Given the description of an element on the screen output the (x, y) to click on. 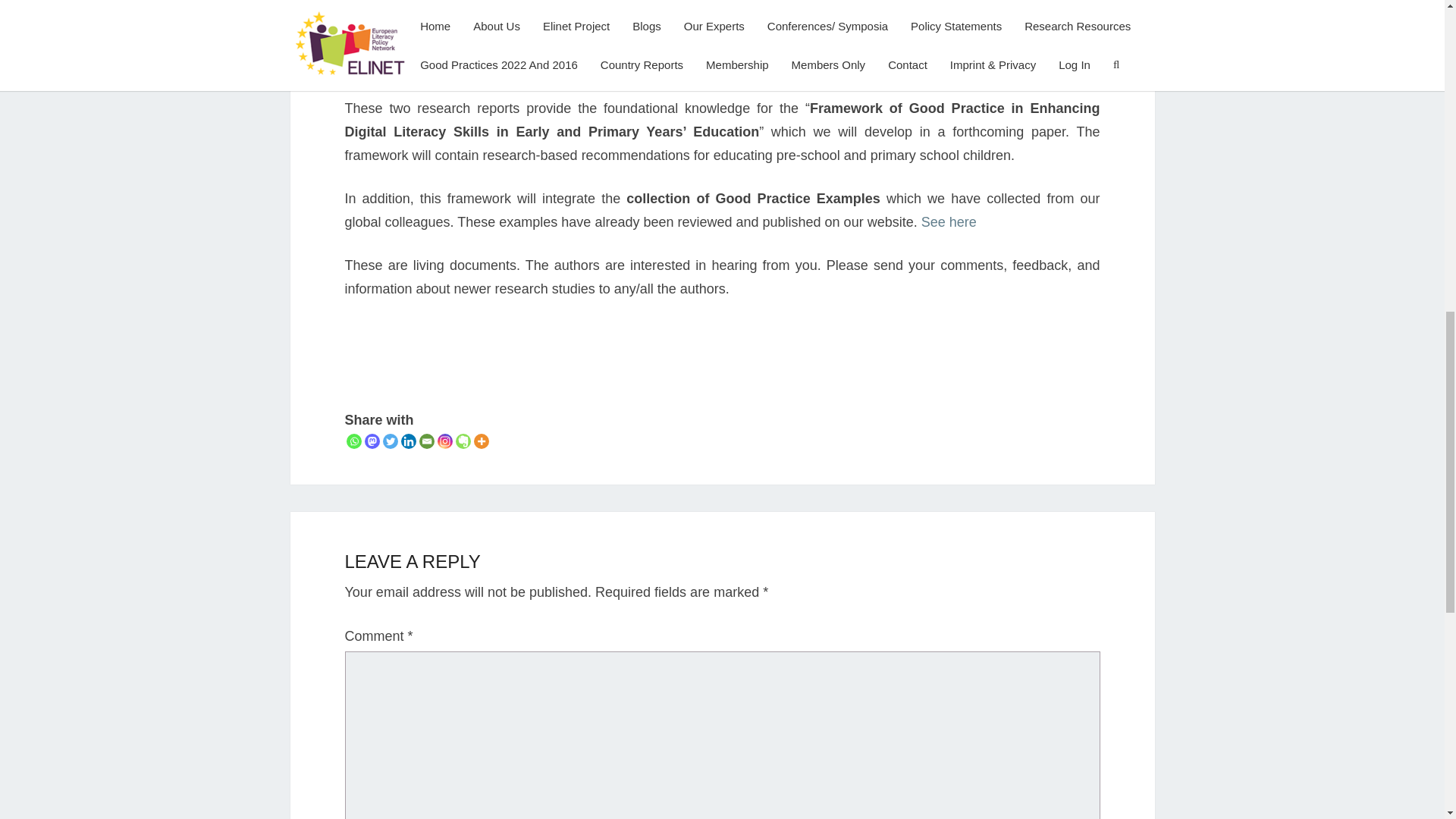
Evernote (462, 441)
More (480, 441)
See here (948, 222)
Mastodon (371, 441)
download it here (1006, 64)
Twitter (389, 441)
download it here (584, 2)
Email (426, 441)
Whatsapp (353, 441)
Linkedin (407, 441)
